Given the description of an element on the screen output the (x, y) to click on. 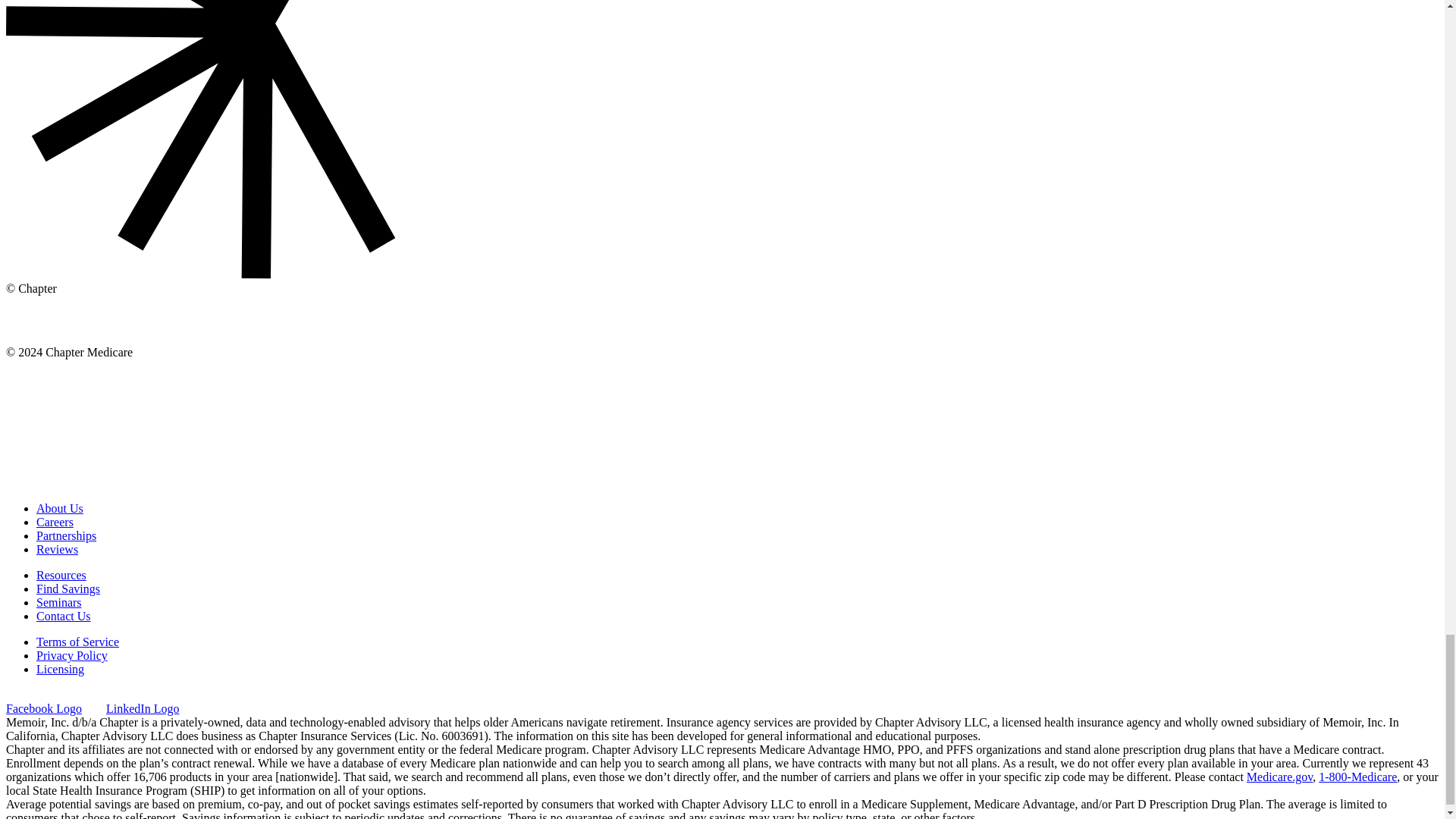
About Us (59, 508)
Careers (55, 521)
Resources (60, 574)
Partnerships (66, 535)
Reviews (57, 549)
